Given the description of an element on the screen output the (x, y) to click on. 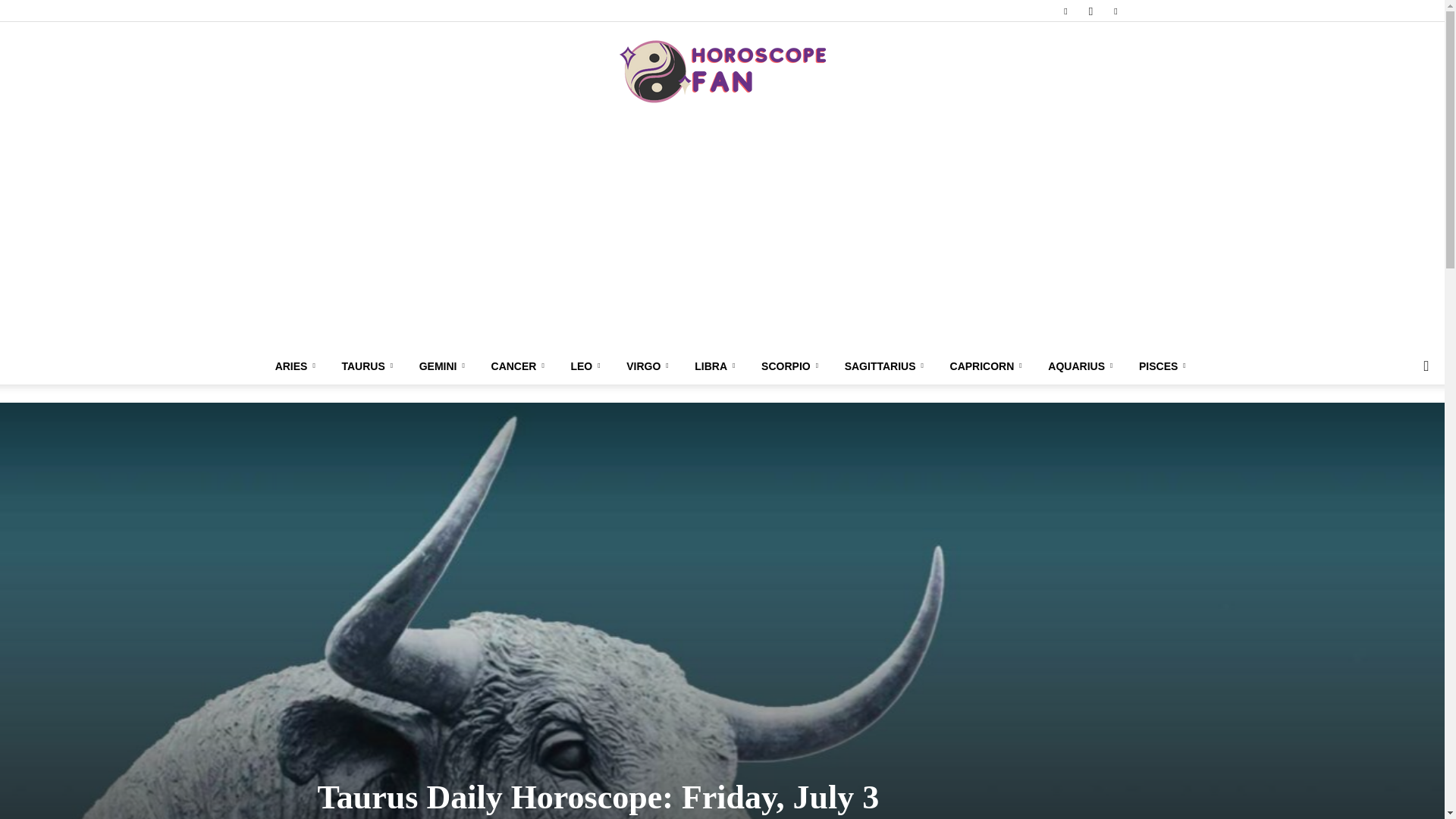
Facebook (1065, 10)
Pinterest (1114, 10)
Instagram (1090, 10)
